Given the description of an element on the screen output the (x, y) to click on. 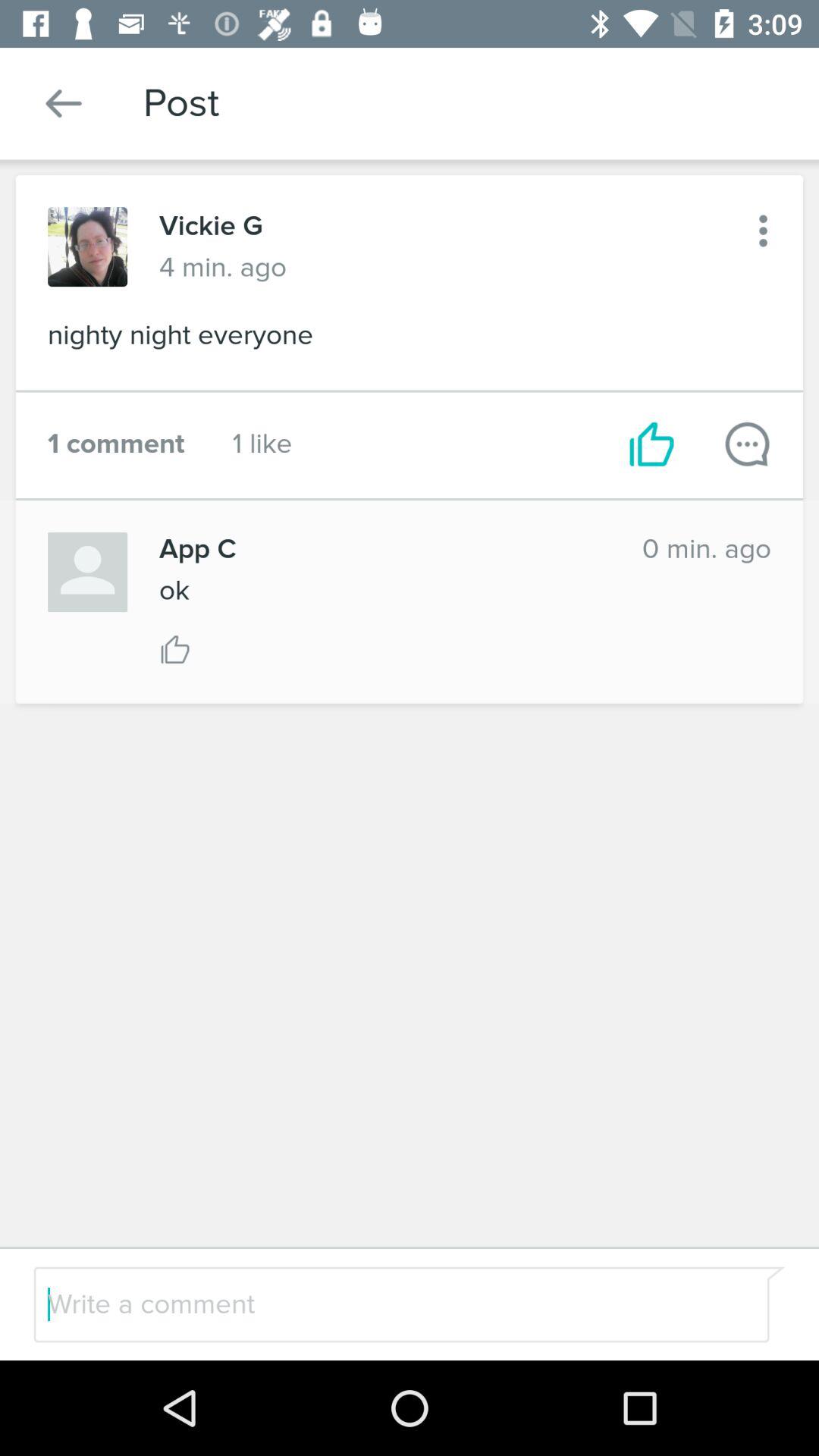
turn off icon next to the 0 min. ago icon (384, 548)
